Given the description of an element on the screen output the (x, y) to click on. 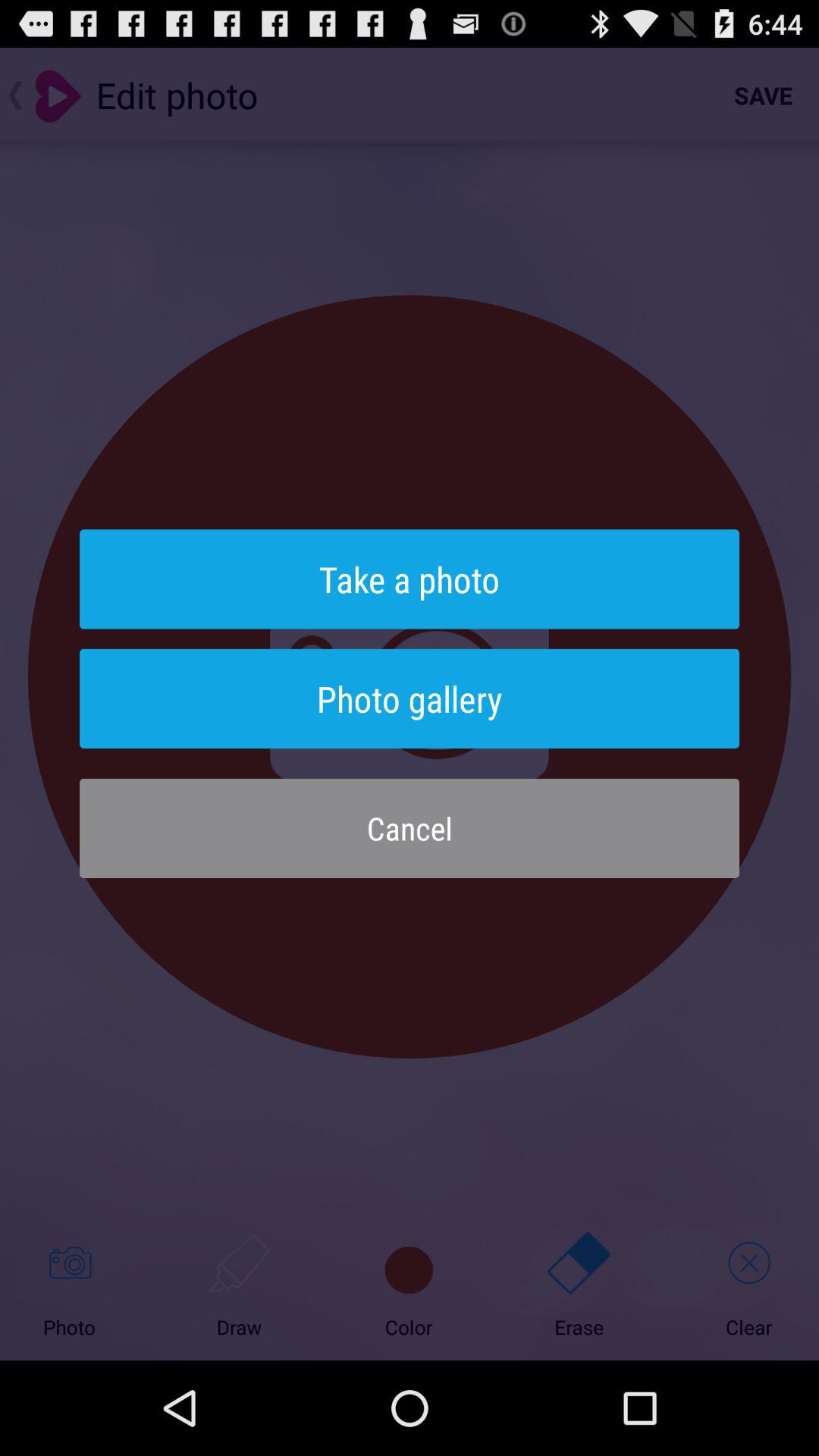
jump until photo gallery (409, 698)
